Given the description of an element on the screen output the (x, y) to click on. 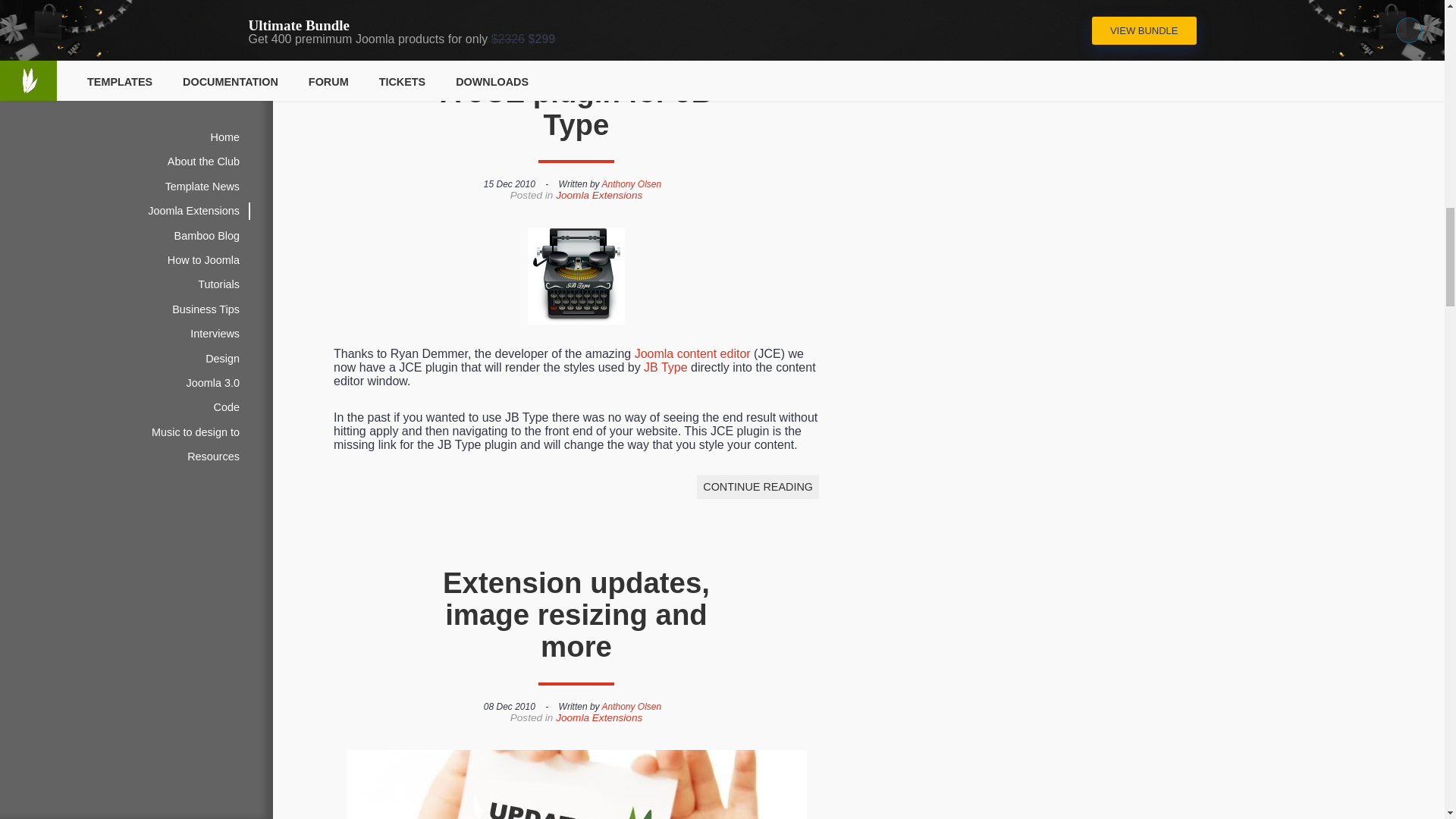
CONTINUE READING (757, 4)
